Given the description of an element on the screen output the (x, y) to click on. 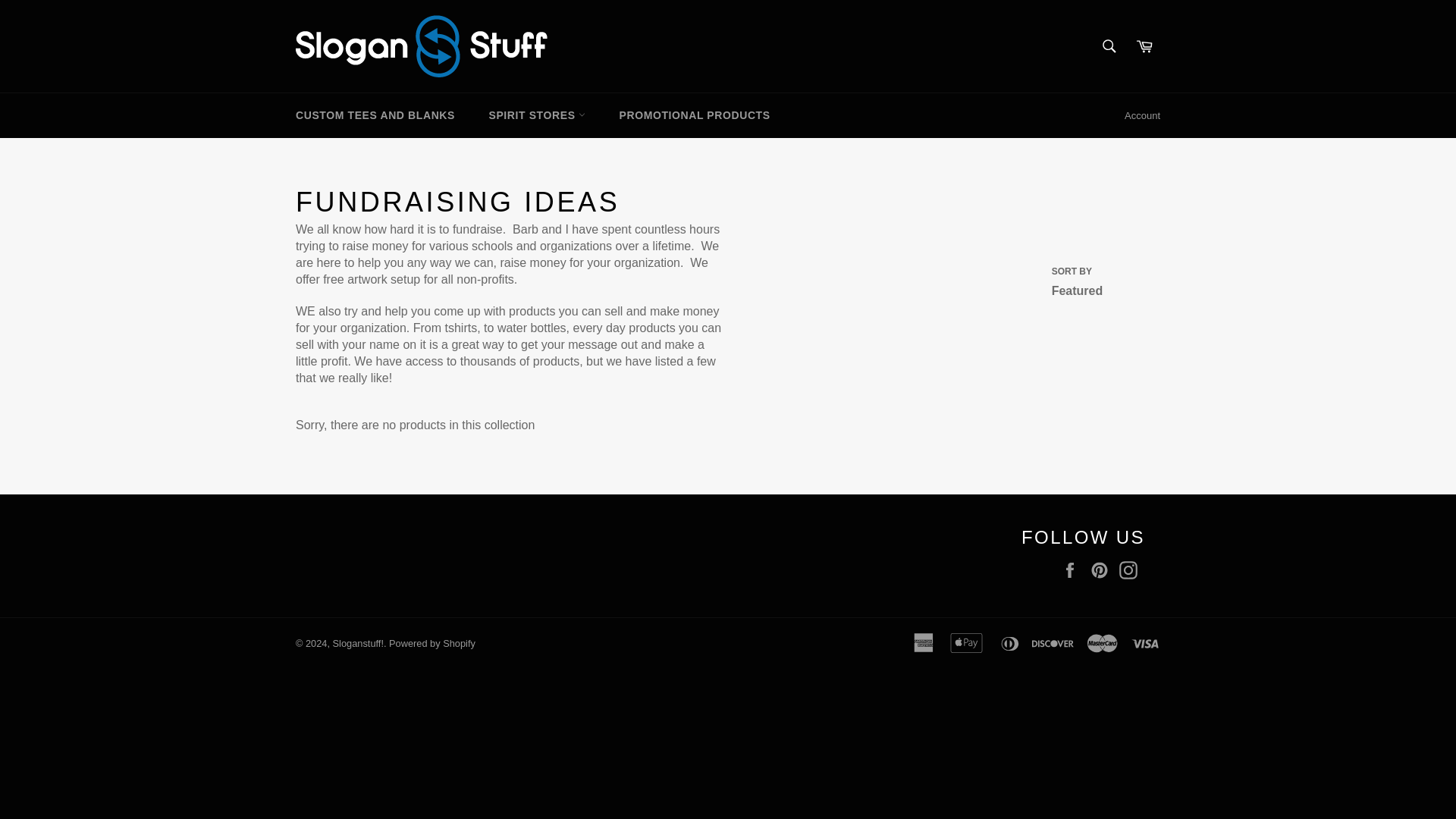
Pinterest (1103, 570)
Powered by Shopify (432, 643)
SPIRIT STORES (536, 115)
Account (1141, 116)
Facebook (1073, 570)
Search (1109, 46)
Instagram (1131, 570)
Cart (1144, 46)
PROMOTIONAL PRODUCTS (695, 115)
Sloganstuff! (358, 643)
Sloganstuff! on Facebook (1073, 570)
CUSTOM TEES AND BLANKS (375, 115)
Sloganstuff! on Instagram (1131, 570)
Sloganstuff! on Pinterest (1103, 570)
